Given the description of an element on the screen output the (x, y) to click on. 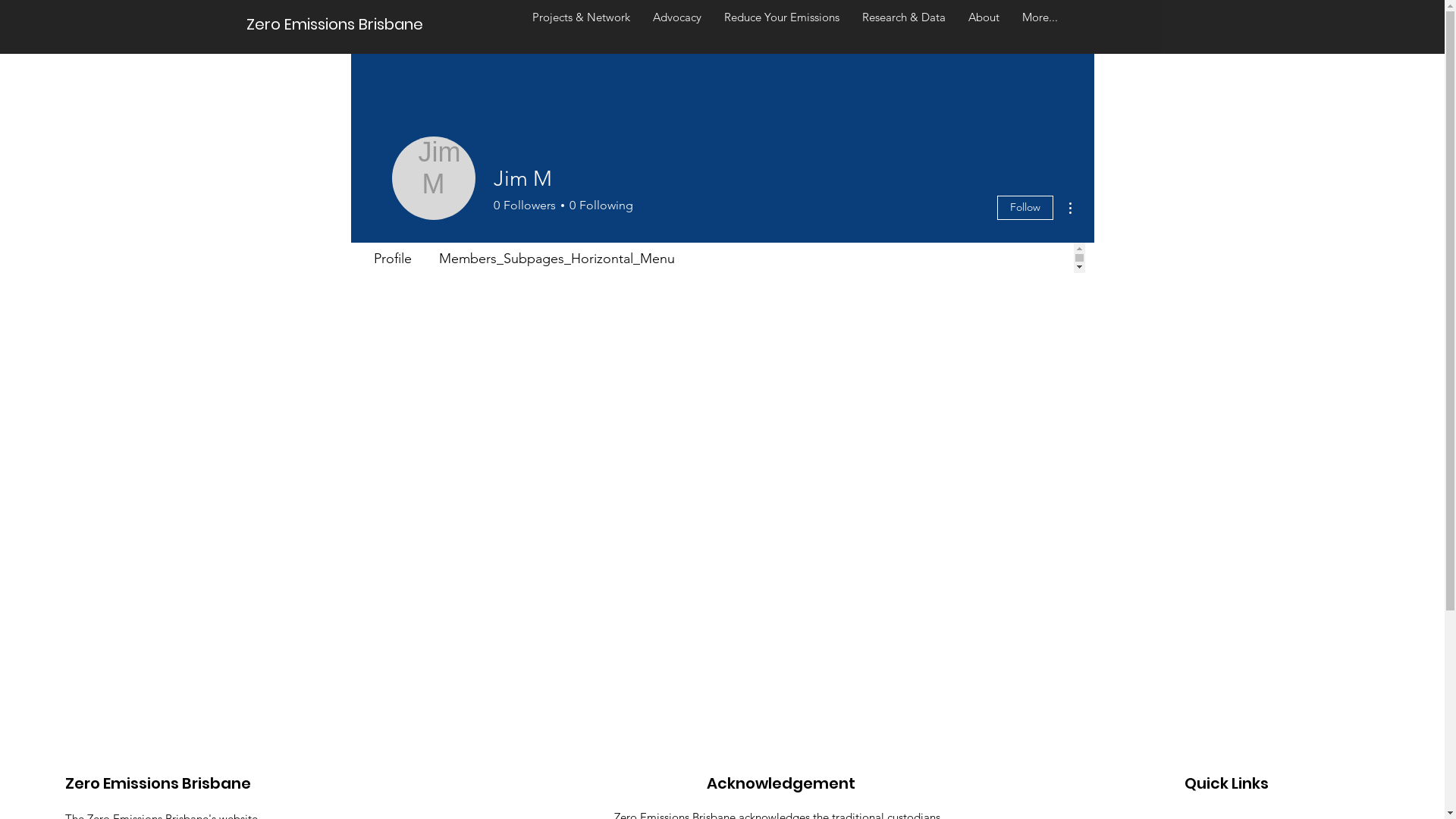
About Element type: text (983, 24)
Research & Data Element type: text (903, 24)
0
Followers Element type: text (523, 205)
0
Following Element type: text (598, 205)
Profile Element type: text (391, 257)
Projects & Network Element type: text (580, 24)
Reduce Your Emissions Element type: text (781, 24)
Follow Element type: text (1024, 207)
Jim M Element type: hover (432, 177)
Advocacy Element type: text (676, 24)
Zero Emissions Brisbane Element type: text (397, 24)
